Given the description of an element on the screen output the (x, y) to click on. 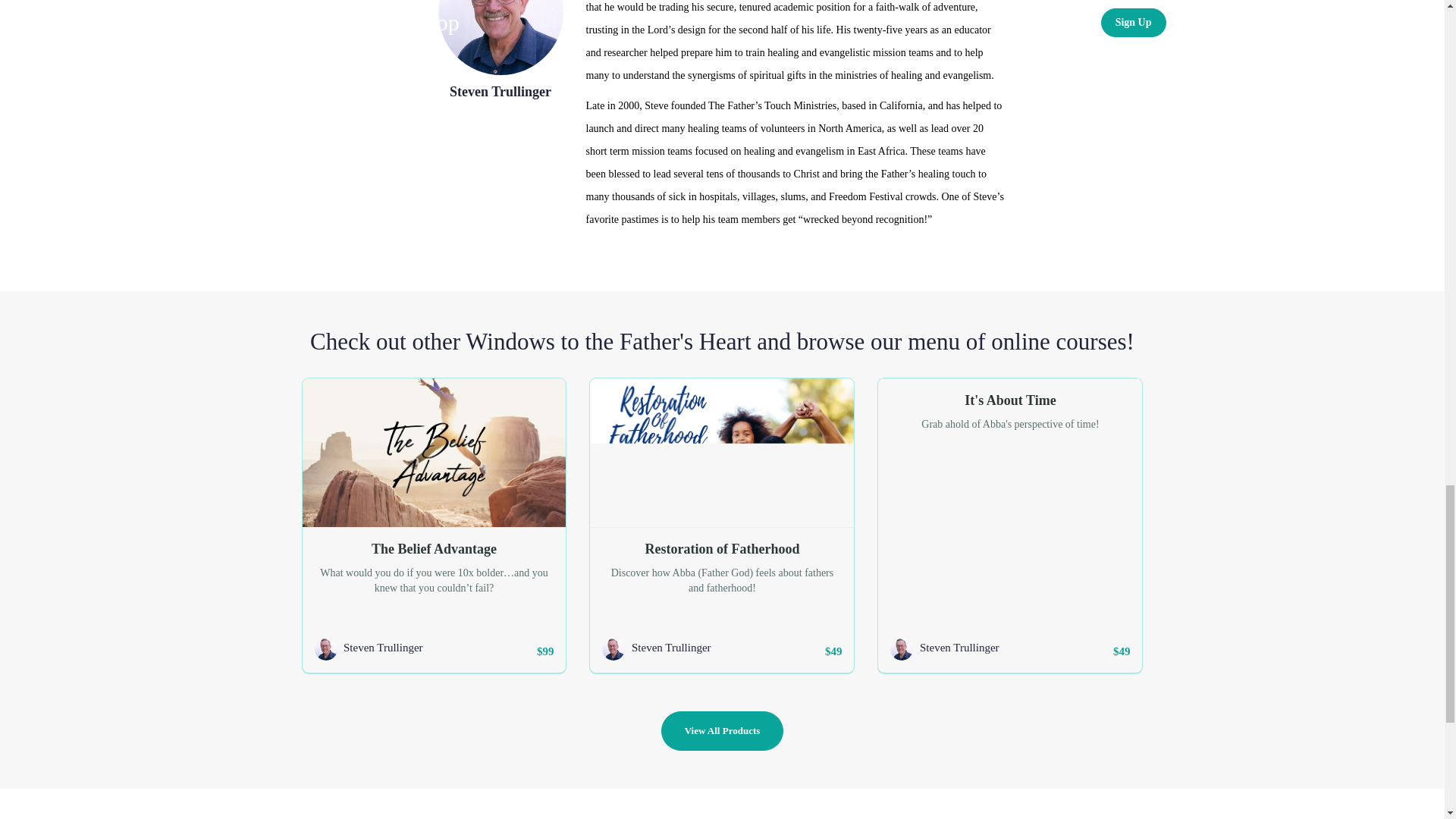
Restoration of Fatherhood (721, 544)
Grab ahold of Abba's perspective of time! (1009, 424)
View All Products (722, 731)
The Belief Advantage (433, 544)
It's About Time (1009, 396)
